Given the description of an element on the screen output the (x, y) to click on. 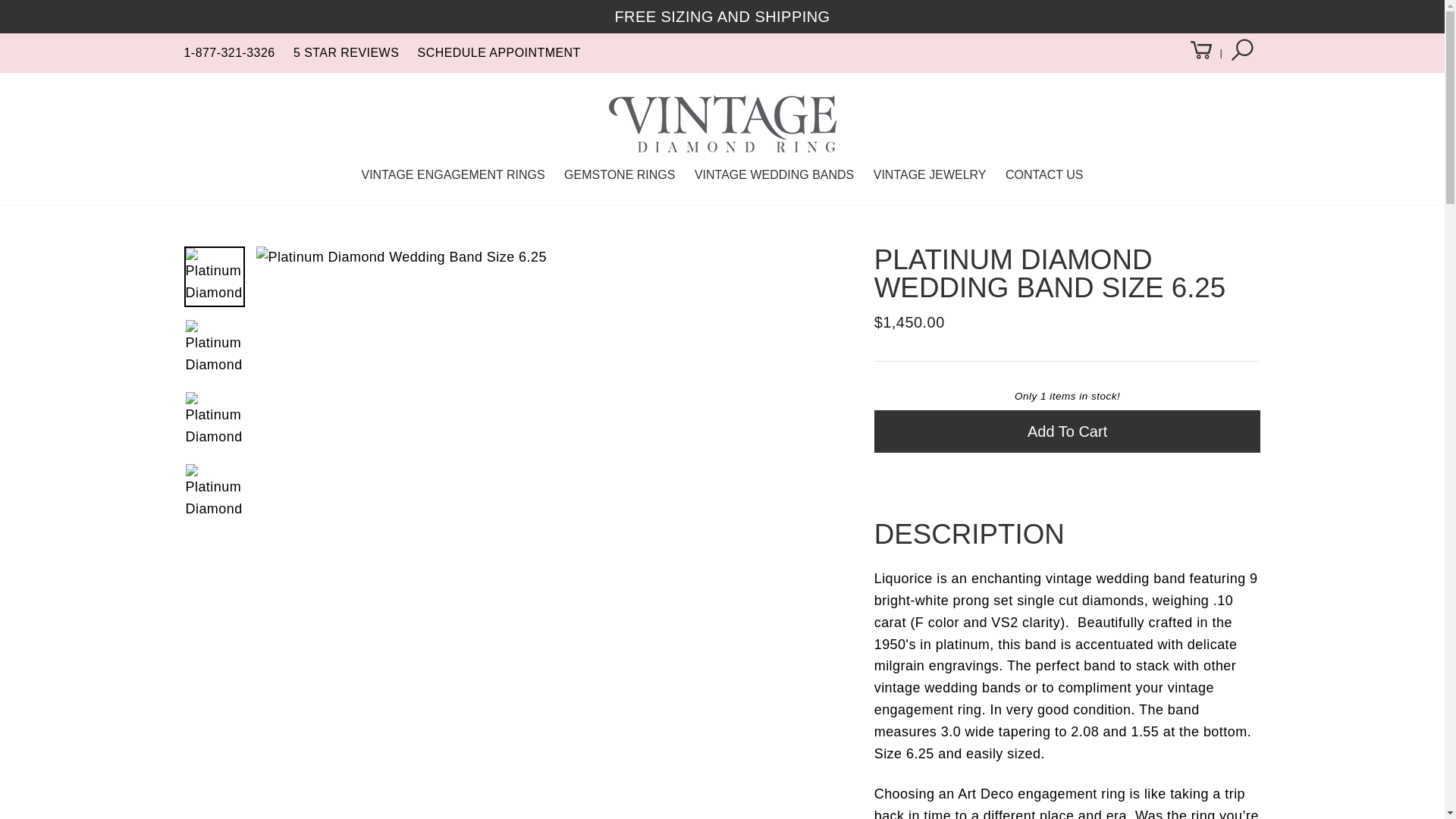
1-877-321-3326 (229, 52)
VINTAGE WEDDING BANDS (774, 174)
GEMSTONE RINGS (619, 174)
VINTAGE ENGAGEMENT RINGS (452, 174)
VINTAGE JEWELRY (930, 174)
SCHEDULE APPOINTMENT (499, 52)
5 STAR REVIEWS (345, 52)
